Given the description of an element on the screen output the (x, y) to click on. 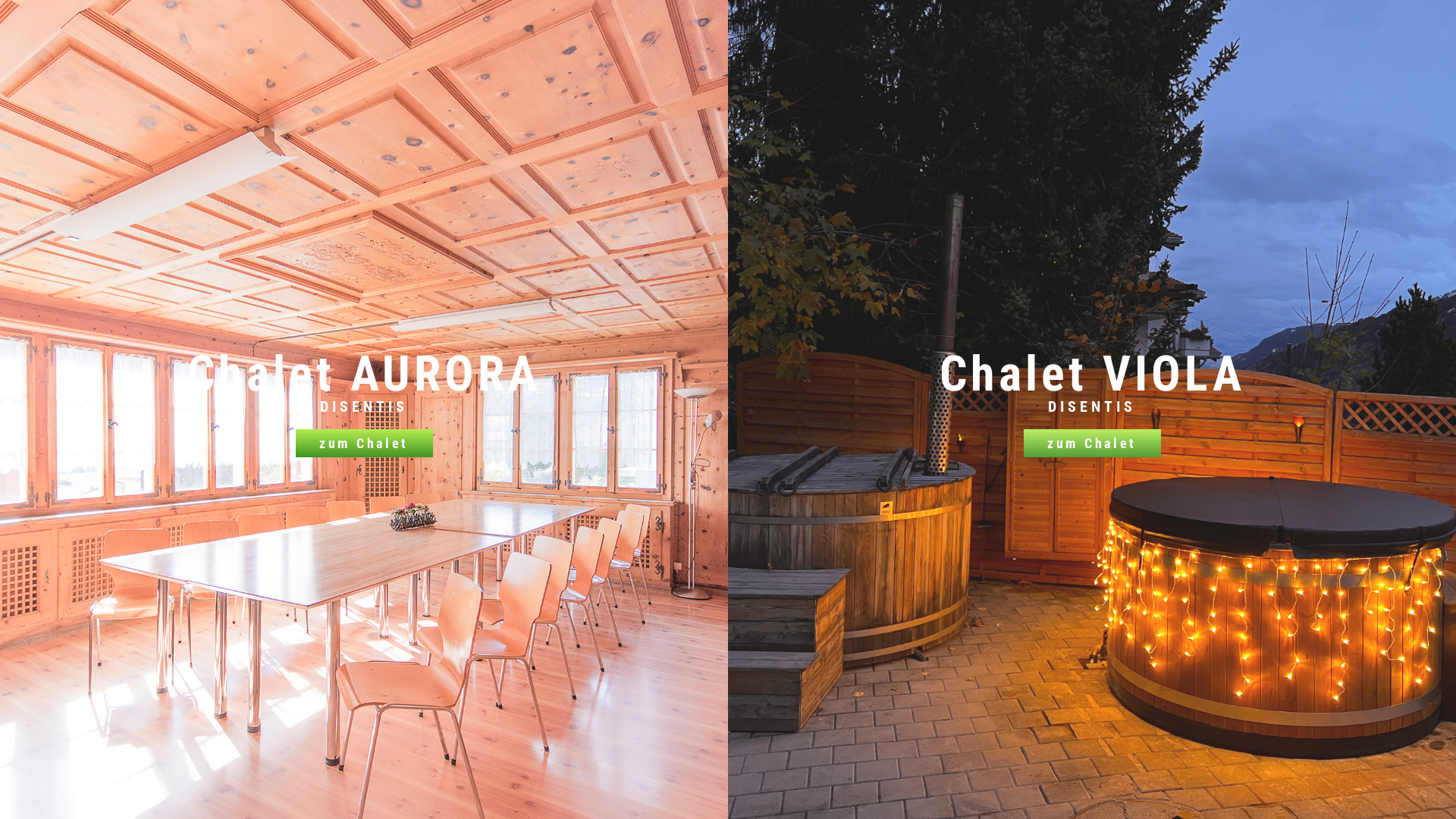
zum Chalet Element type: text (364, 443)
zum Chalet Element type: text (1092, 443)
